Given the description of an element on the screen output the (x, y) to click on. 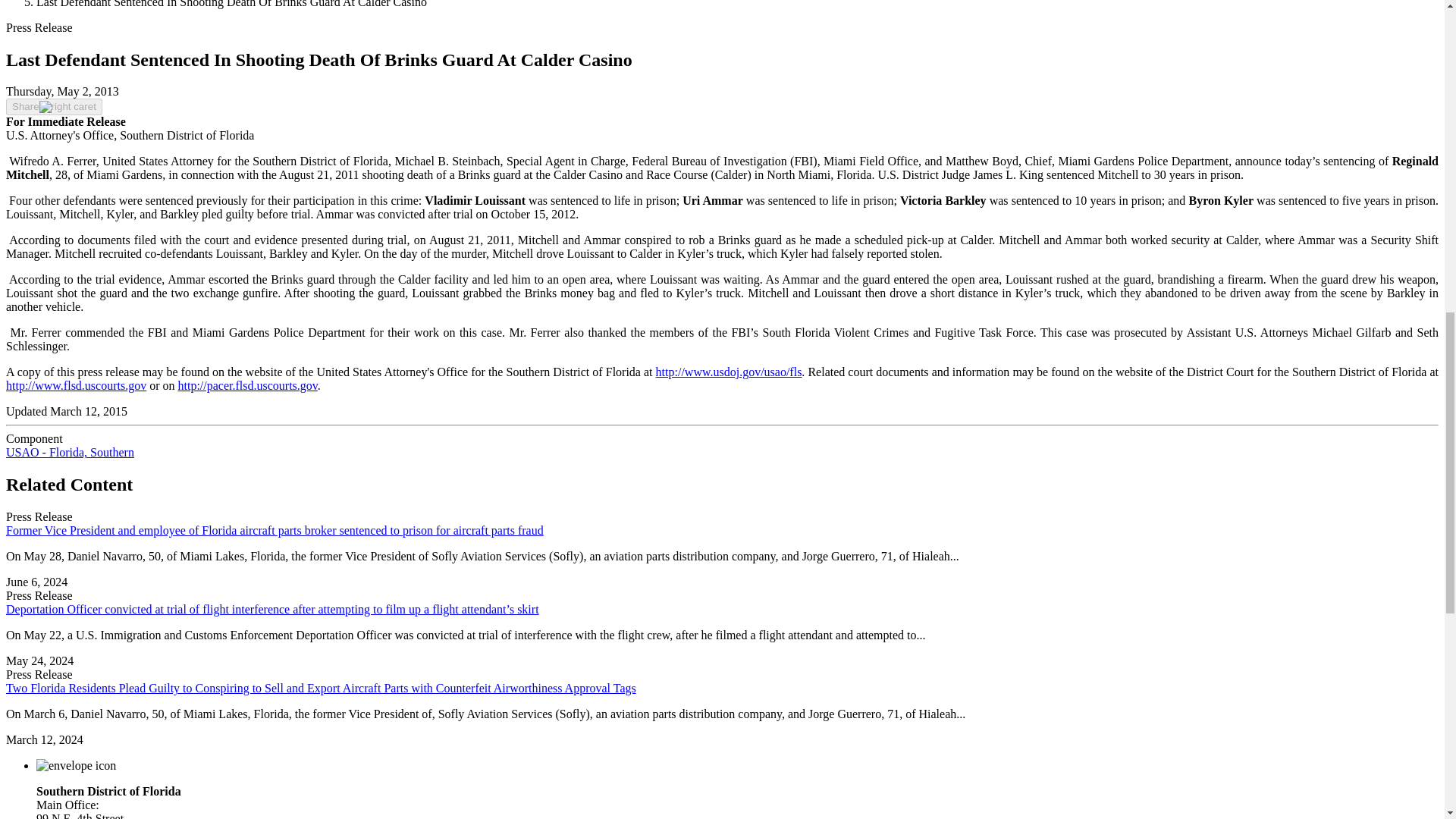
Share (53, 106)
